Given the description of an element on the screen output the (x, y) to click on. 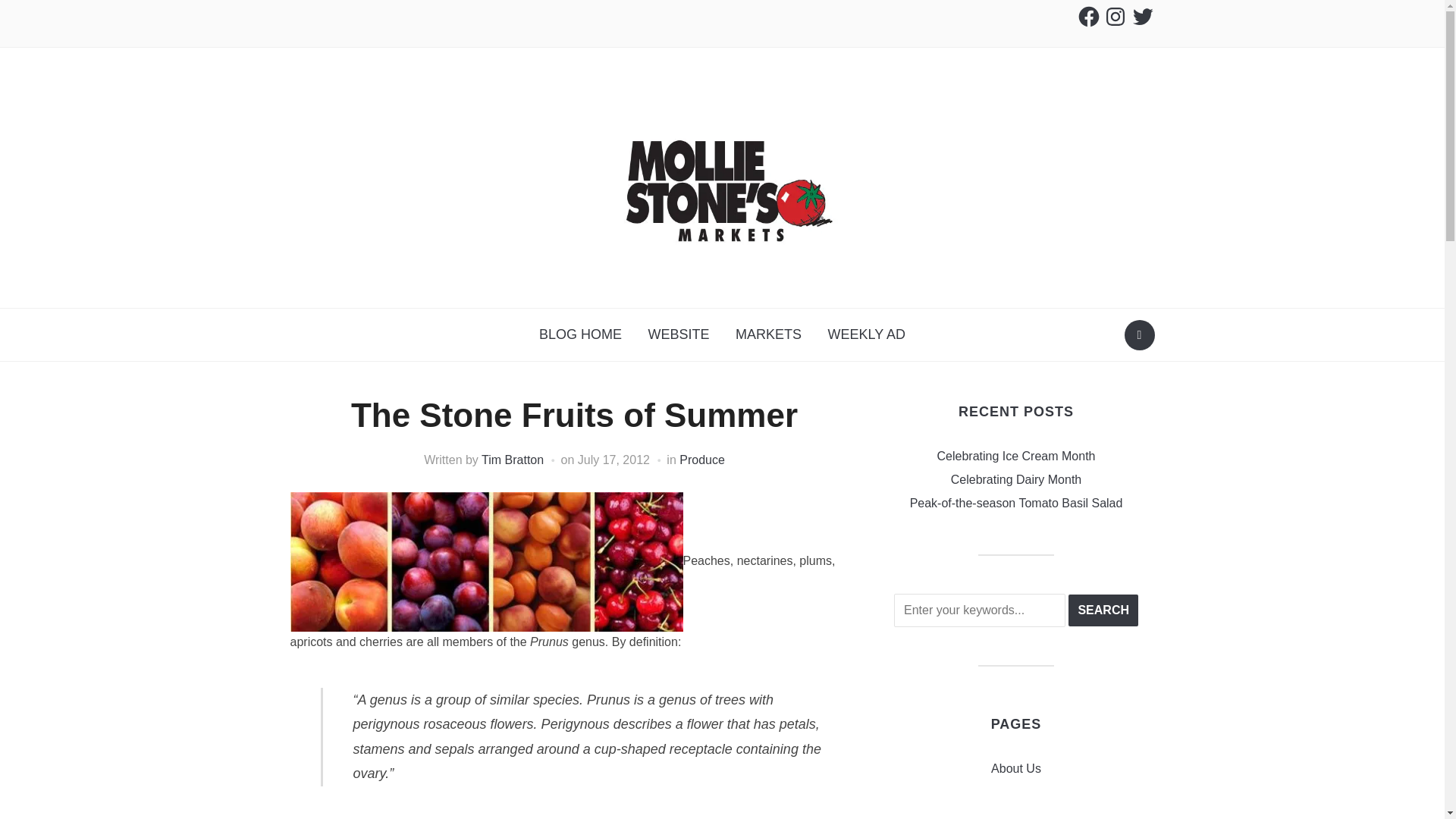
MARKETS (767, 334)
Facebook (1088, 16)
Search (1103, 610)
Celebrating Dairy Month (1015, 479)
Search (1103, 610)
WEEKLY AD (866, 334)
Peak-of-the-season Tomato Basil Salad (1016, 502)
WEBSITE (678, 334)
Posts by Tim Bratton (512, 459)
Celebrating Ice Cream Month (1016, 455)
BLOG HOME (580, 334)
Instagram (1114, 16)
Search (1103, 610)
About Us (1016, 768)
Produce (702, 459)
